Given the description of an element on the screen output the (x, y) to click on. 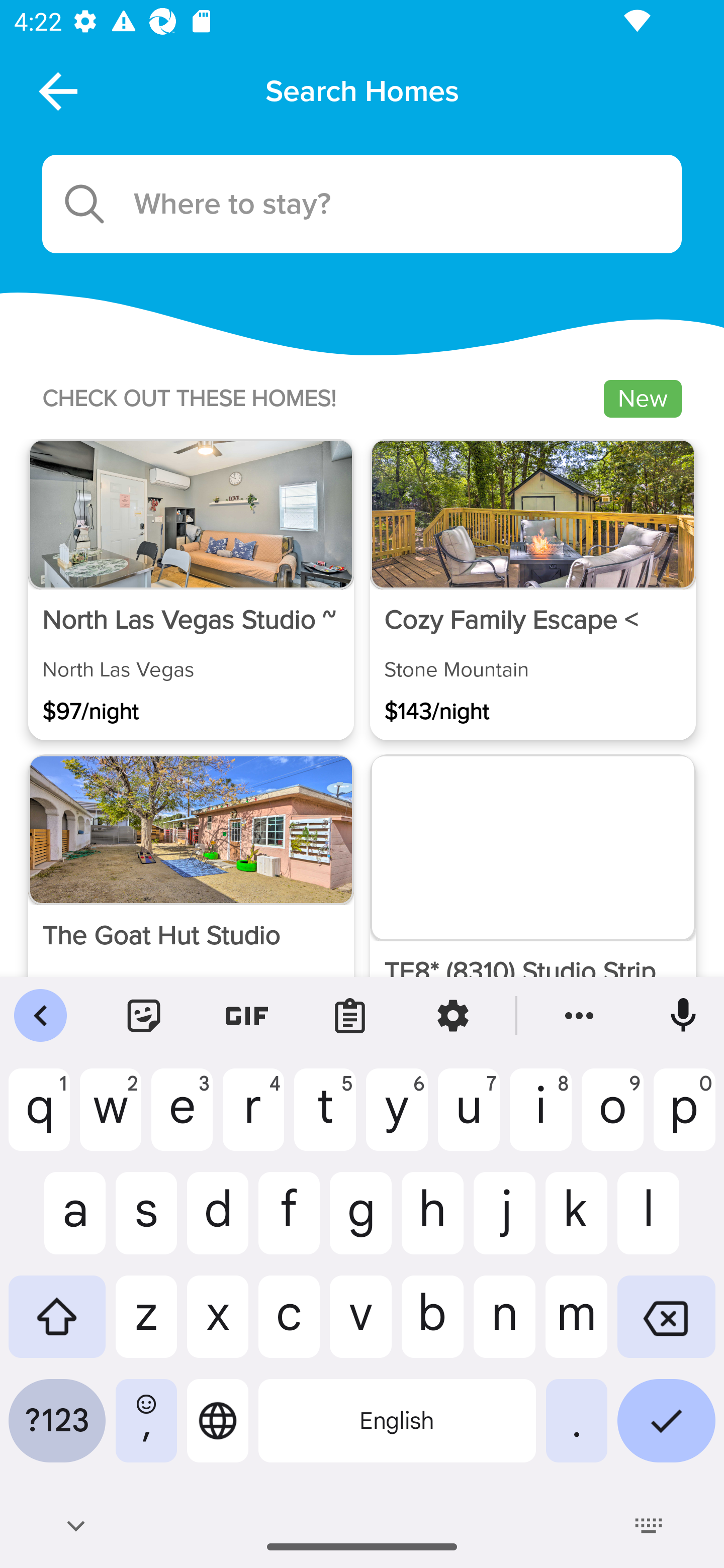
Icon close screen (55, 90)
Search icon Where to stay? (361, 204)
